Given the description of an element on the screen output the (x, y) to click on. 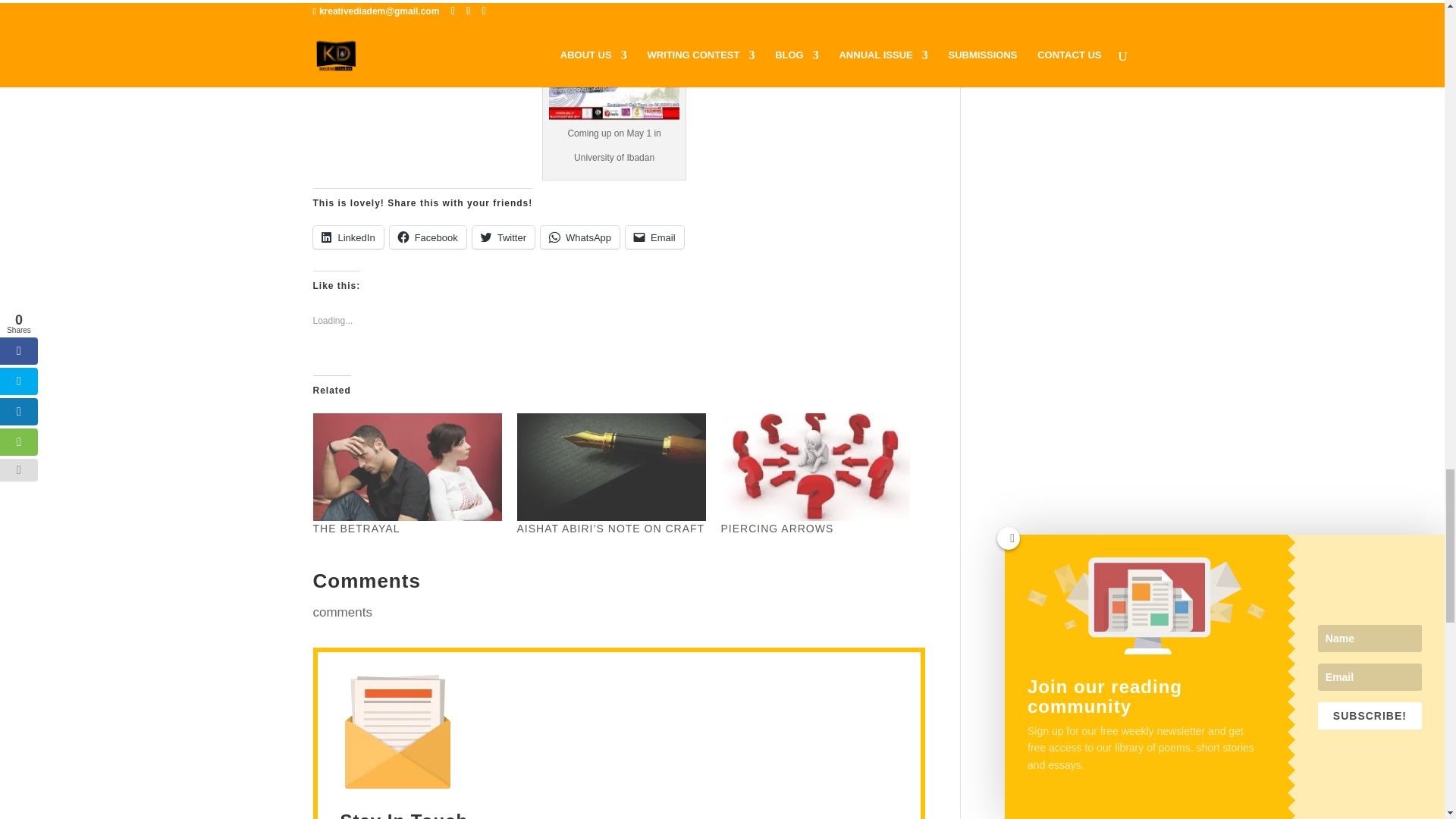
THE BETRAYAL (355, 528)
Click to share on Facebook (427, 237)
Click to share on WhatsApp (580, 237)
Click to share on Twitter (502, 237)
Click to share on LinkedIn (347, 237)
Click to email a link to a friend (655, 237)
PIERCING ARROWS (814, 466)
THE BETRAYAL (406, 466)
